Given the description of an element on the screen output the (x, y) to click on. 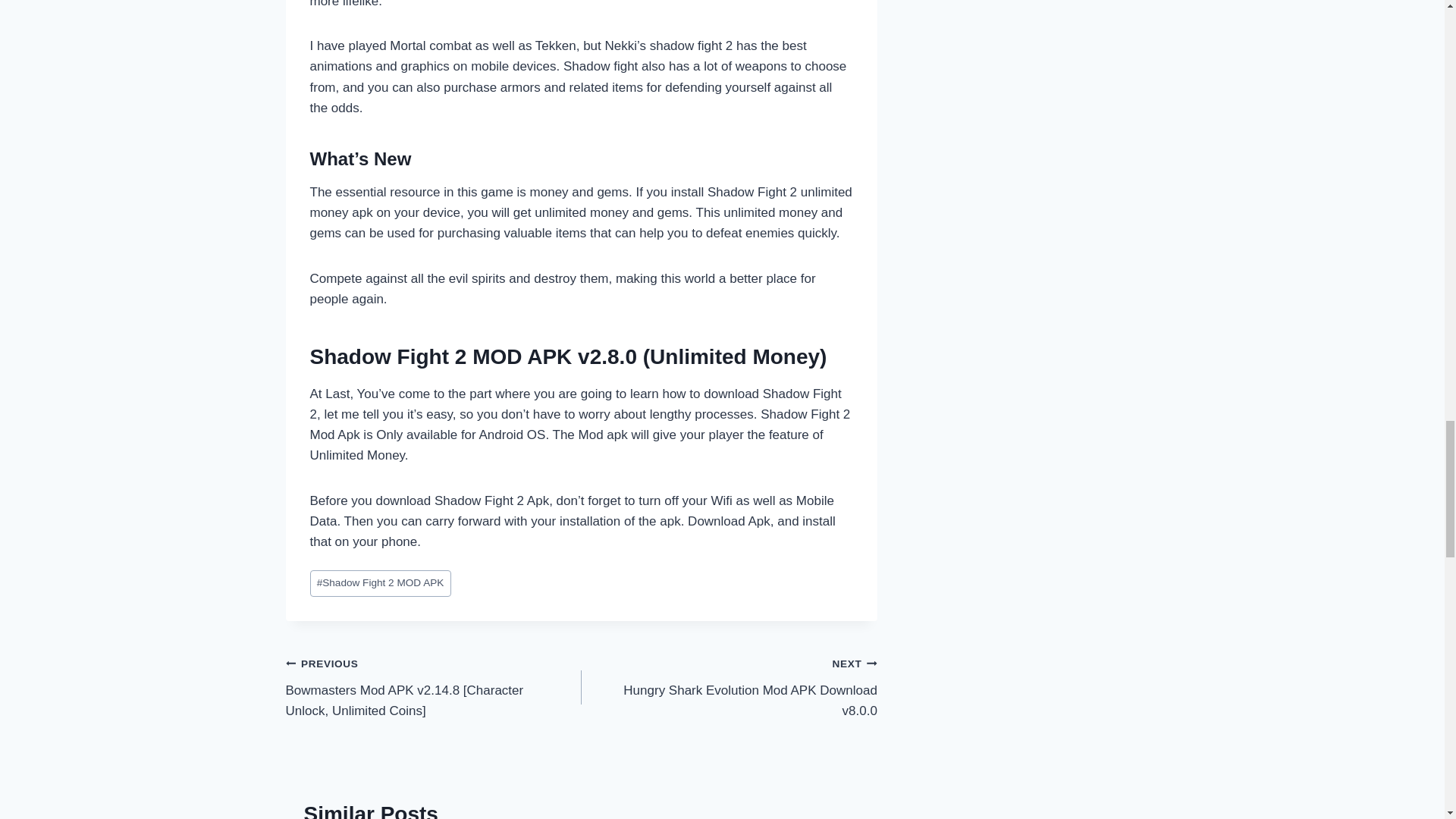
Shadow Fight 2 MOD APK (378, 583)
